Given the description of an element on the screen output the (x, y) to click on. 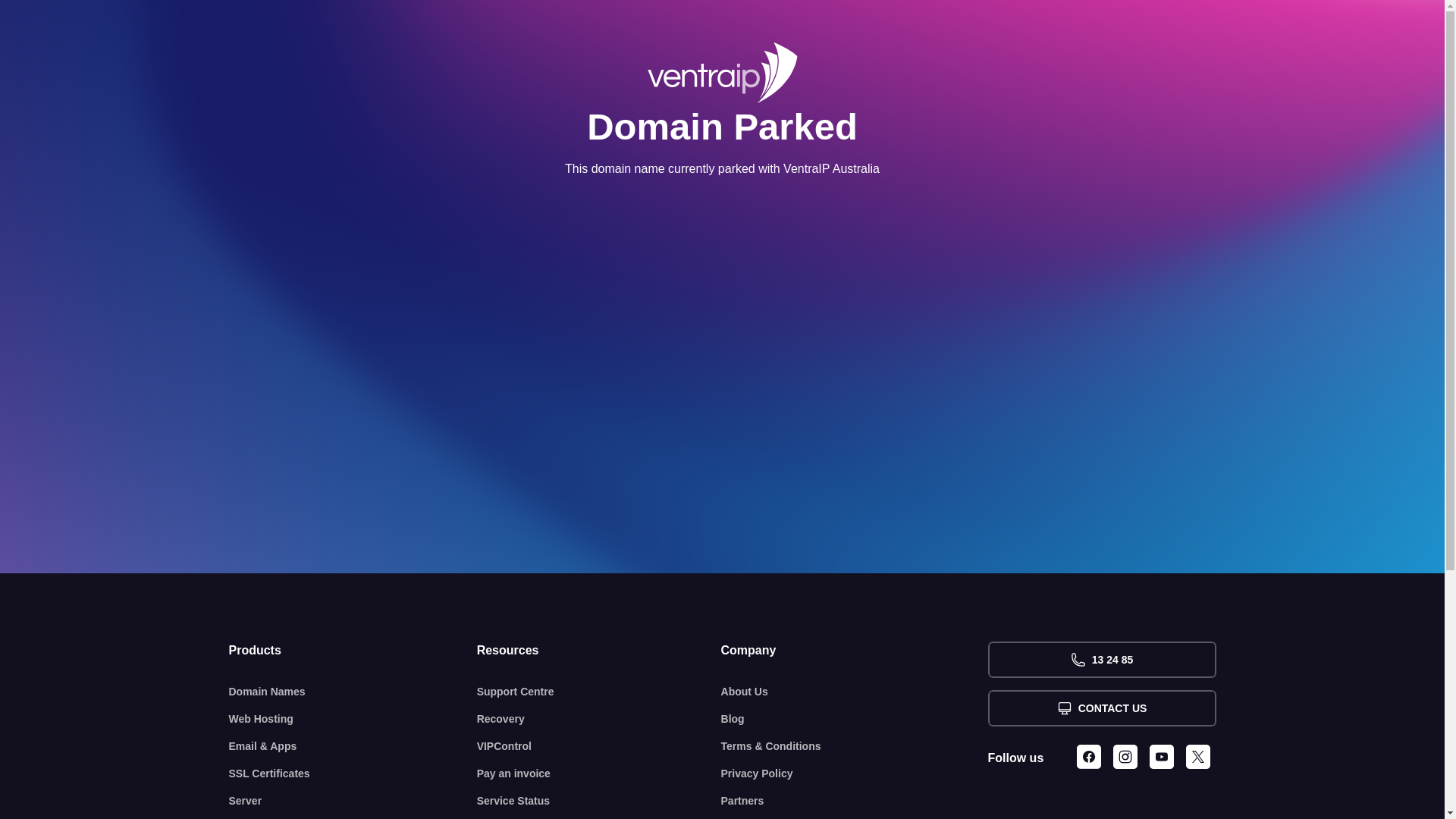
Privacy Policy Element type: text (854, 773)
CONTACT US Element type: text (1101, 708)
Server Element type: text (352, 800)
Partners Element type: text (854, 800)
Email & Apps Element type: text (352, 745)
Blog Element type: text (854, 718)
SSL Certificates Element type: text (352, 773)
Web Hosting Element type: text (352, 718)
About Us Element type: text (854, 691)
VIPControl Element type: text (598, 745)
Recovery Element type: text (598, 718)
Terms & Conditions Element type: text (854, 745)
Domain Names Element type: text (352, 691)
13 24 85 Element type: text (1101, 659)
Support Centre Element type: text (598, 691)
Service Status Element type: text (598, 800)
Pay an invoice Element type: text (598, 773)
